Given the description of an element on the screen output the (x, y) to click on. 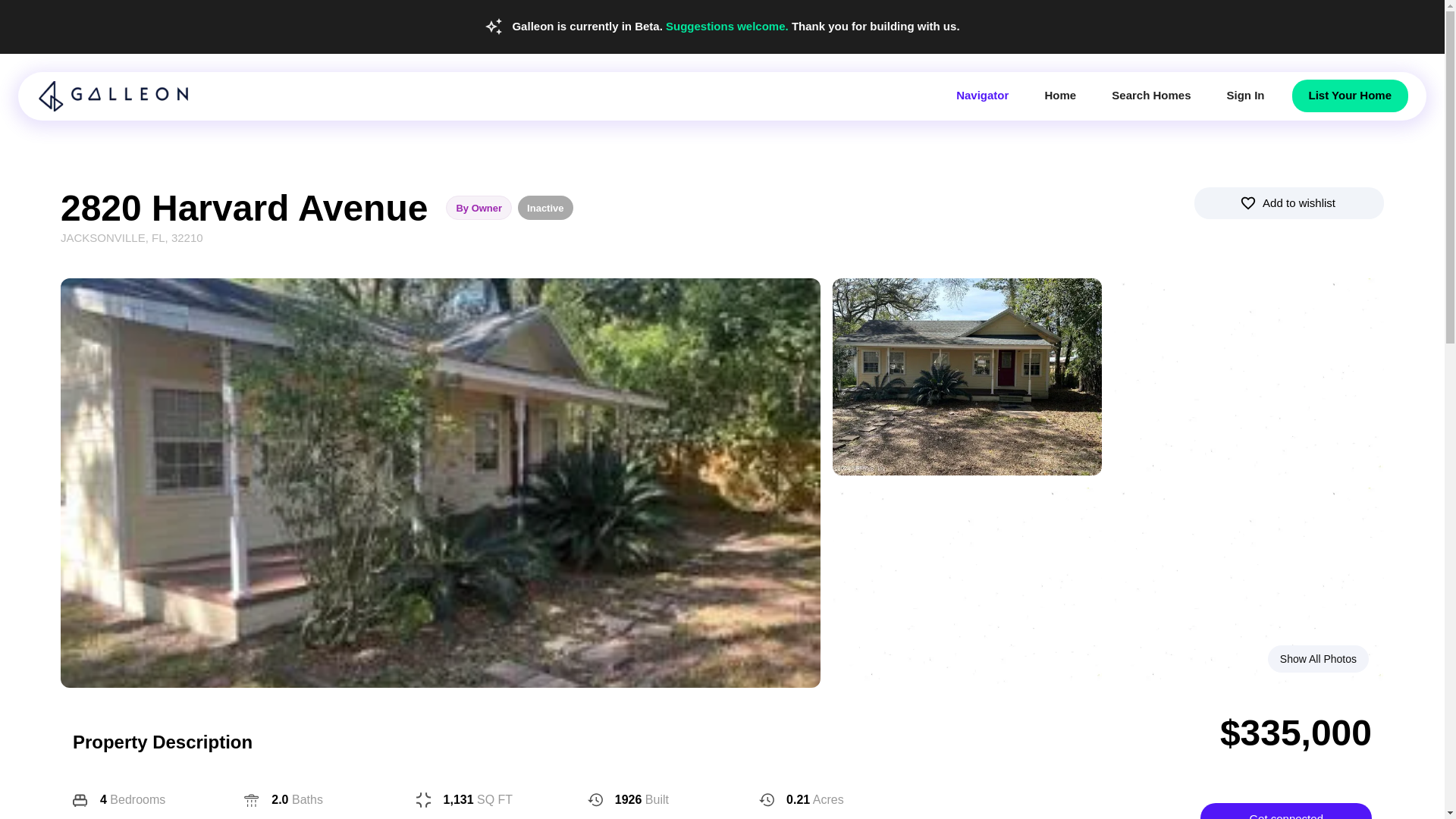
Add to wishlist (1288, 202)
Show All Photos (1318, 659)
Search Homes (1150, 95)
Home (1059, 95)
Navigator (981, 95)
Get connected (1285, 811)
Suggestions welcome. (728, 25)
Sign In (1245, 95)
List Your Home (1349, 95)
